Given the description of an element on the screen output the (x, y) to click on. 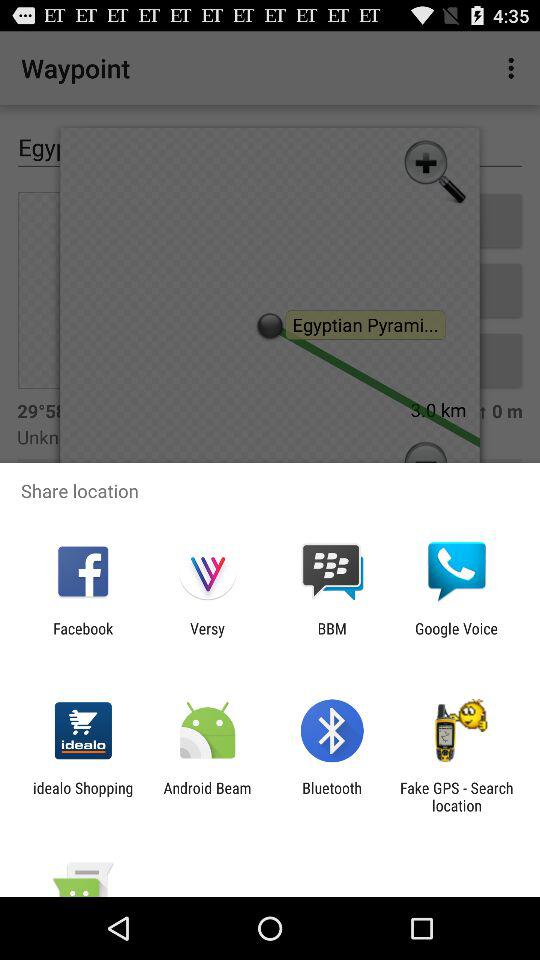
turn off item next to versy app (331, 637)
